Given the description of an element on the screen output the (x, y) to click on. 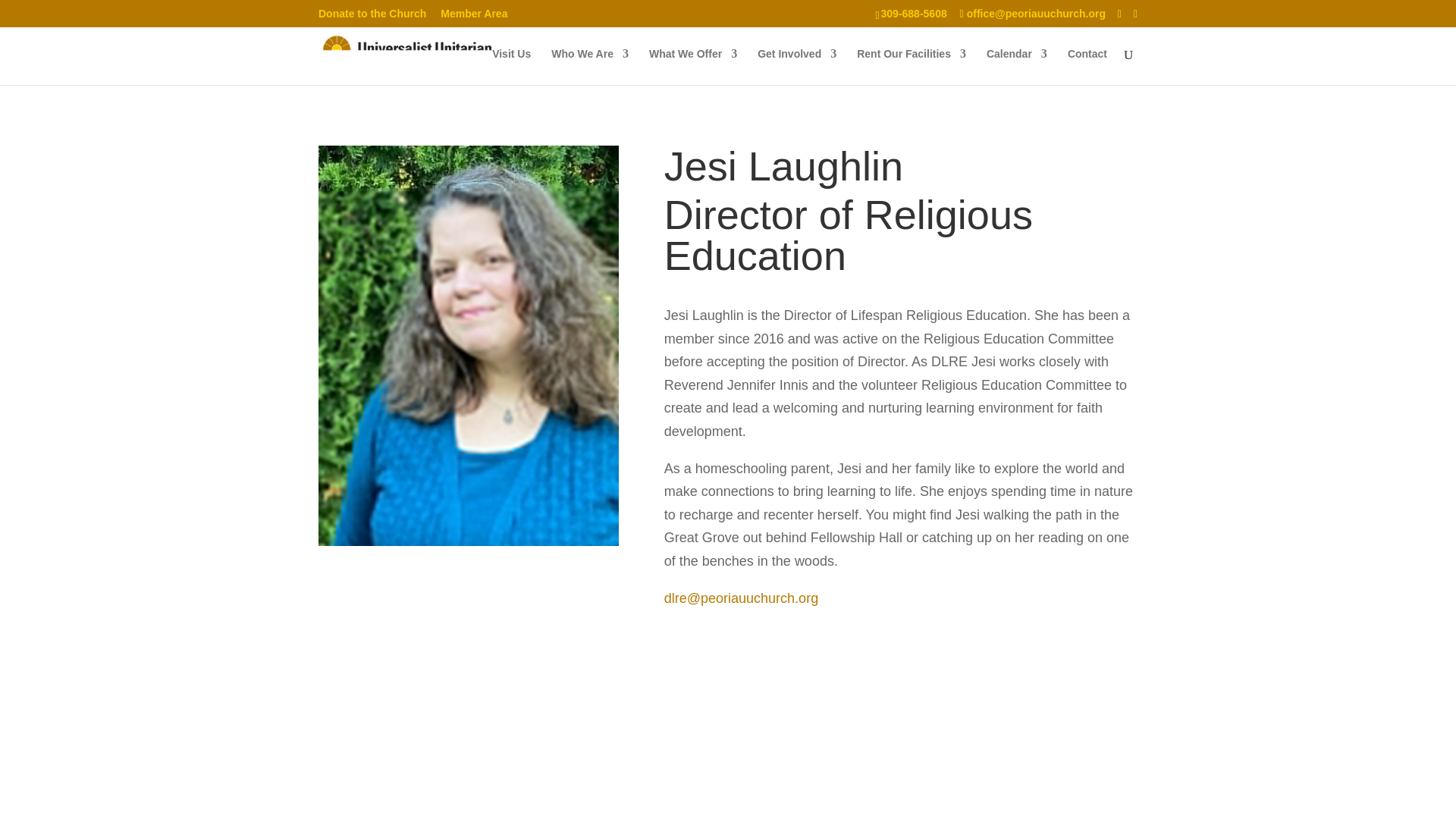
Who We Are (589, 66)
Member Area (473, 16)
Visit Us (511, 66)
What We Offer (692, 66)
Calendar (1016, 66)
Rent Our Facilities (911, 66)
Donate to the Church (372, 16)
Get Involved (796, 66)
